Given the description of an element on the screen output the (x, y) to click on. 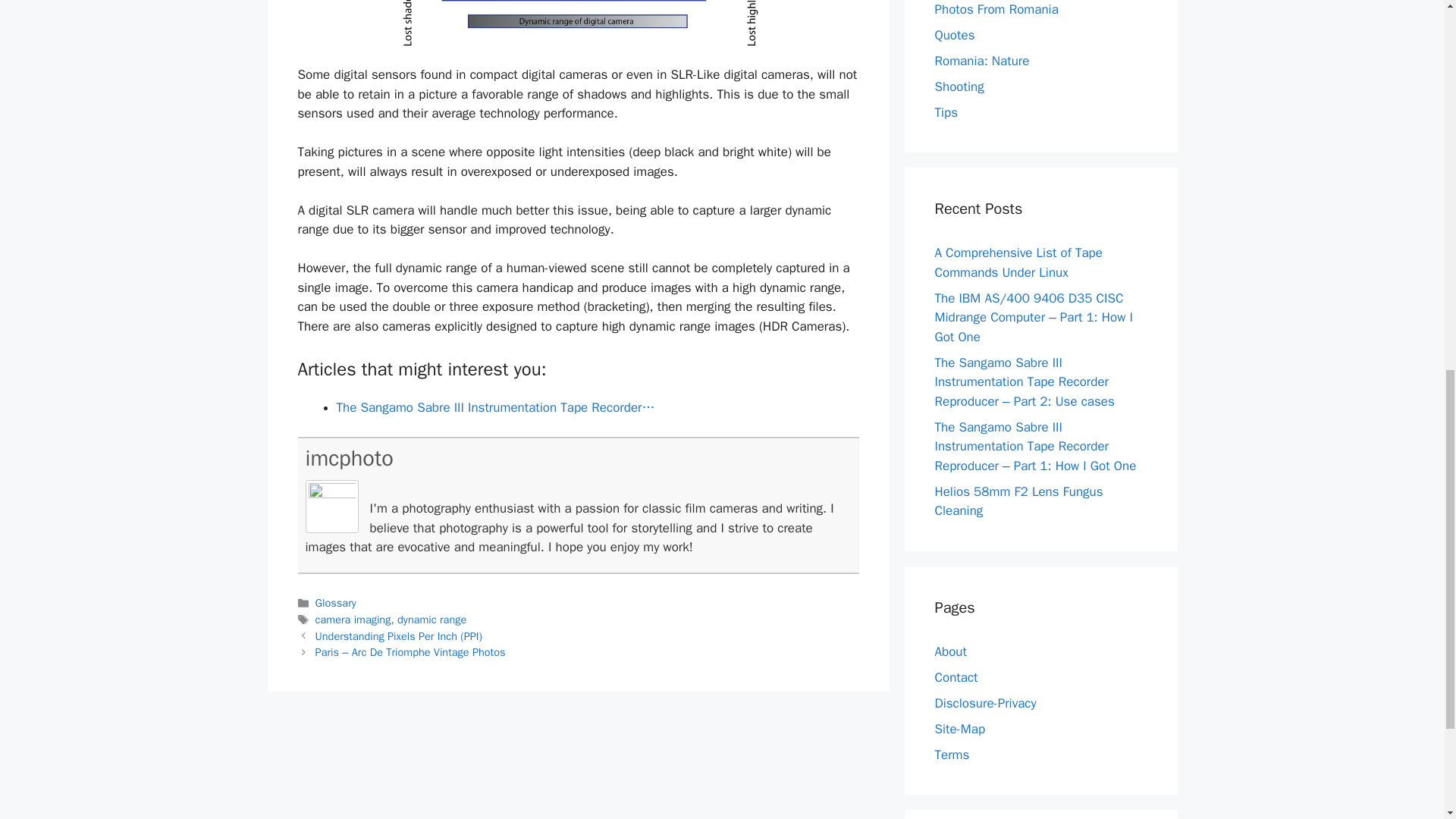
imcphoto (348, 458)
All posts by imcphoto (348, 458)
Glossary (335, 602)
Tips (946, 112)
Quotes (954, 35)
A Comprehensive List of Tape Commands Under Linux (1018, 262)
dynamic range (431, 619)
Shooting (959, 86)
Romania: Nature (981, 60)
camera imaging (353, 619)
Photos From Romania (996, 9)
